Given the description of an element on the screen output the (x, y) to click on. 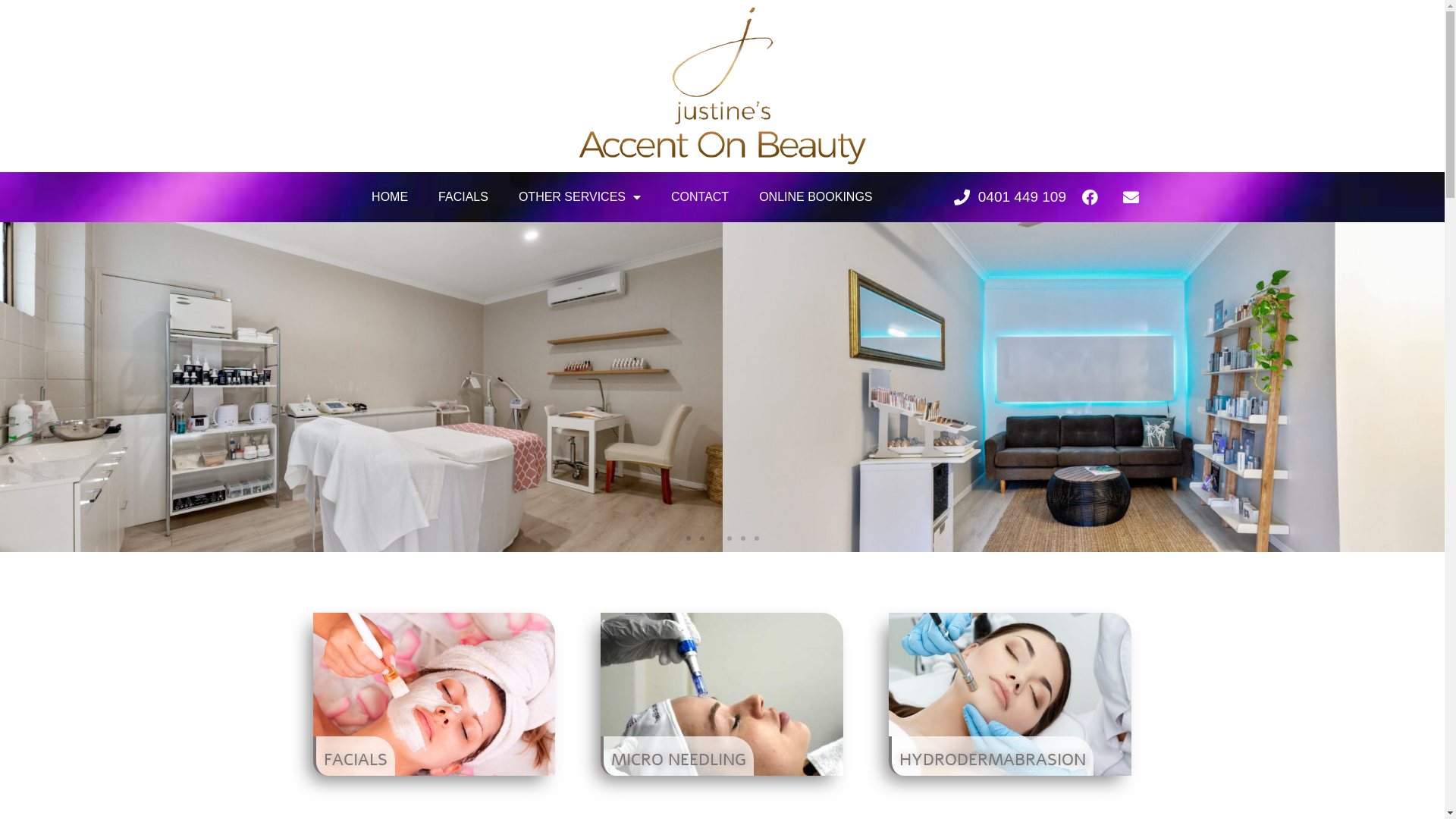
HOME Element type: text (389, 196)
HYDRODERMABRASION Element type: text (990, 755)
ONLINE BOOKINGS Element type: text (815, 196)
0401 449 109 Element type: text (1008, 196)
FACIALS Element type: text (353, 755)
FACIALS Element type: text (463, 196)
OTHER SERVICES Element type: text (579, 196)
CONTACT Element type: text (699, 196)
MICRO NEEDLING Element type: text (676, 755)
